Given the description of an element on the screen output the (x, y) to click on. 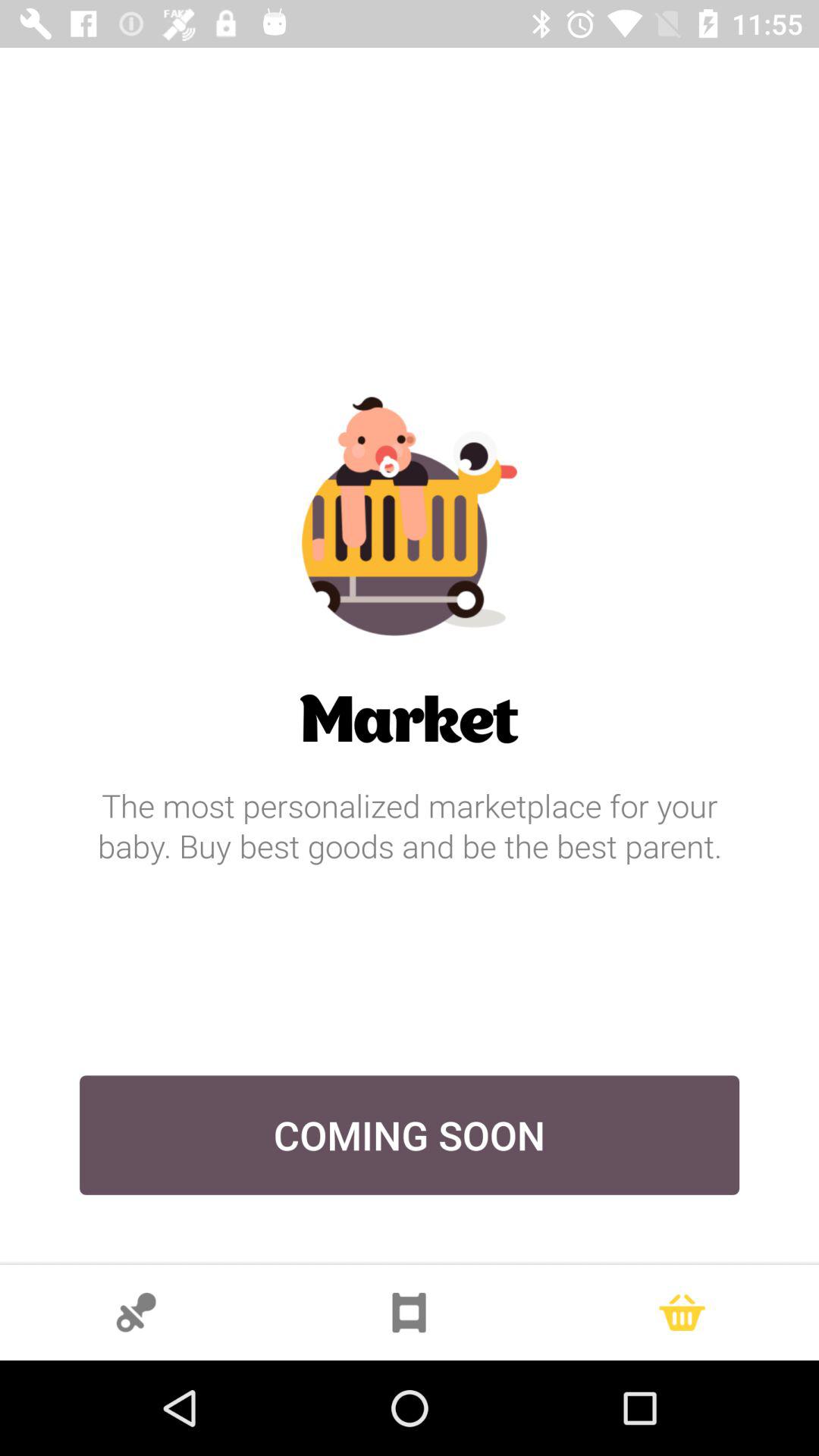
turn on coming soon item (409, 1134)
